Given the description of an element on the screen output the (x, y) to click on. 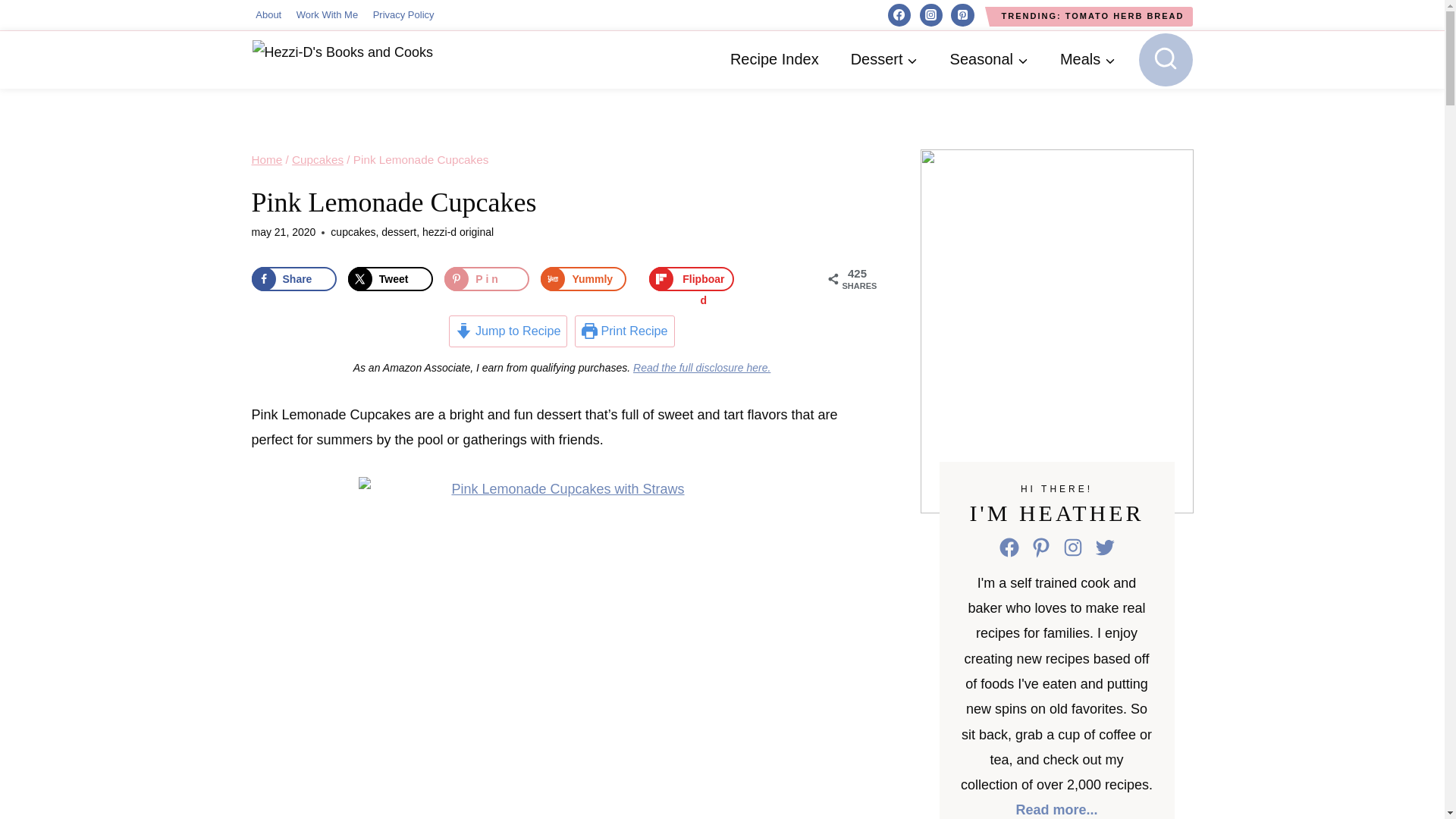
Recipe Index (774, 59)
Share on Flipboard (691, 278)
Share on Yummly (583, 278)
TRENDING: TOMATO HERB BREAD (1092, 16)
Privacy Policy (403, 15)
Save to Pinterest (486, 278)
Meals (1087, 59)
About (268, 15)
Work With Me (326, 15)
Share on X (389, 278)
